Given the description of an element on the screen output the (x, y) to click on. 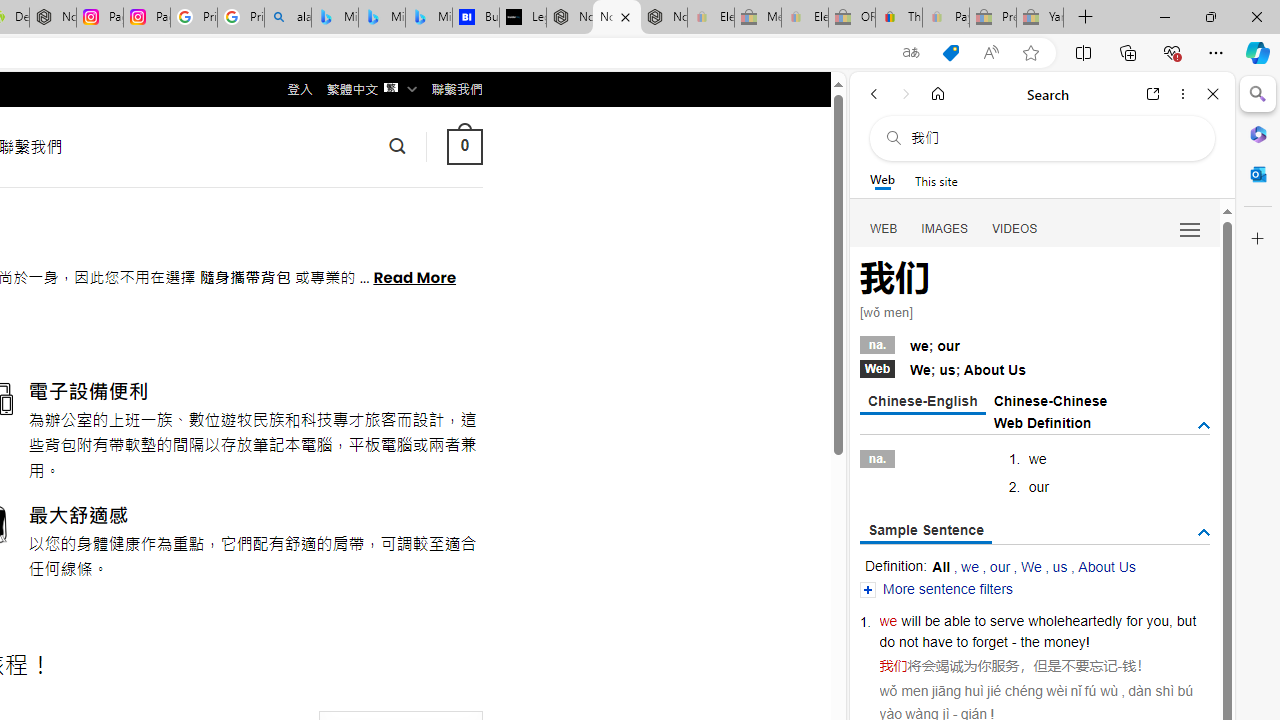
be (932, 620)
AutomationID: tgdef_sen (1203, 533)
Chinese-English (922, 402)
